Given the description of an element on the screen output the (x, y) to click on. 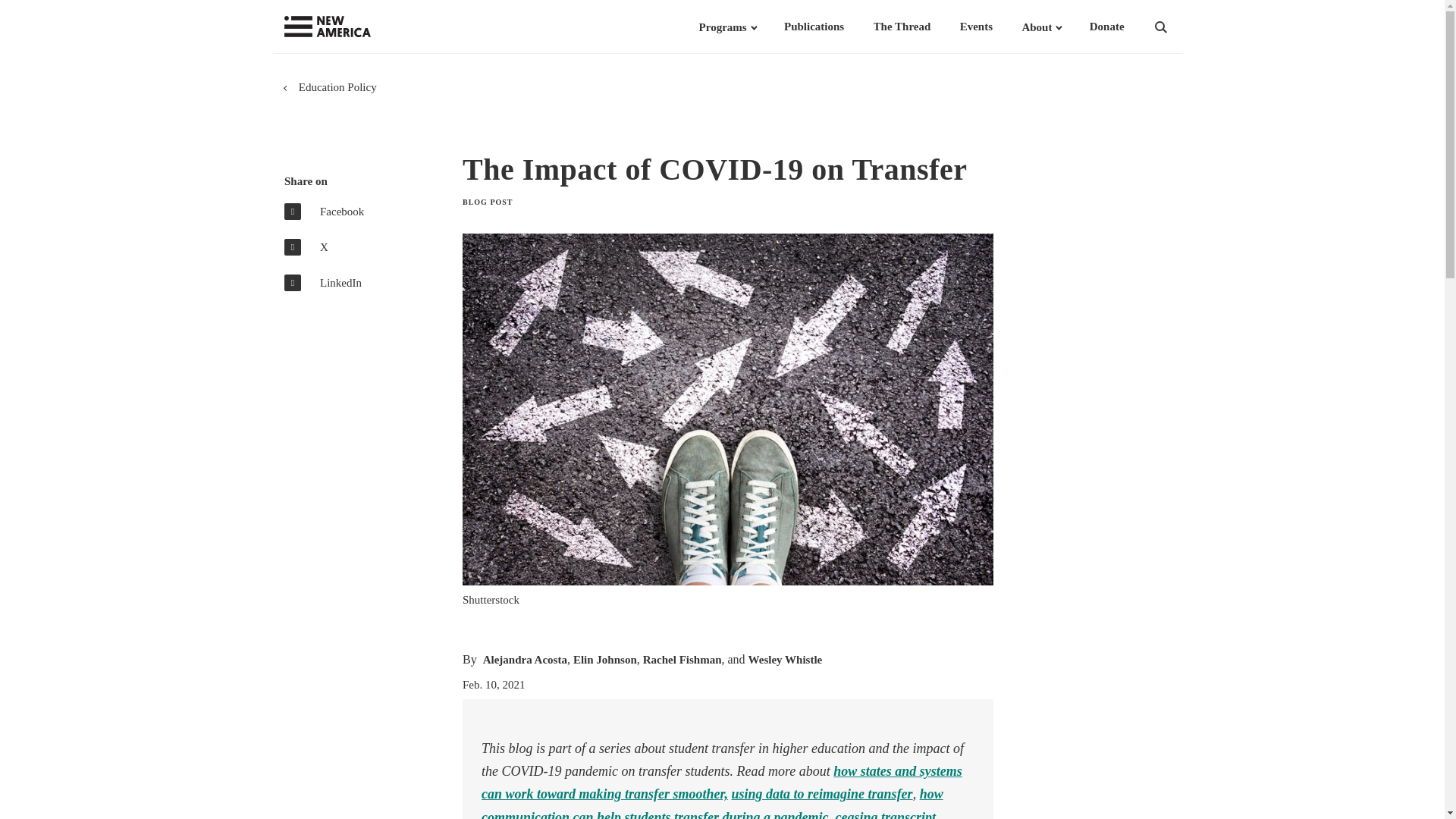
The Thread (902, 26)
Publications (814, 26)
Search (1180, 27)
Search (1180, 27)
New America (357, 26)
Programs (722, 26)
Search (1180, 27)
